Given the description of an element on the screen output the (x, y) to click on. 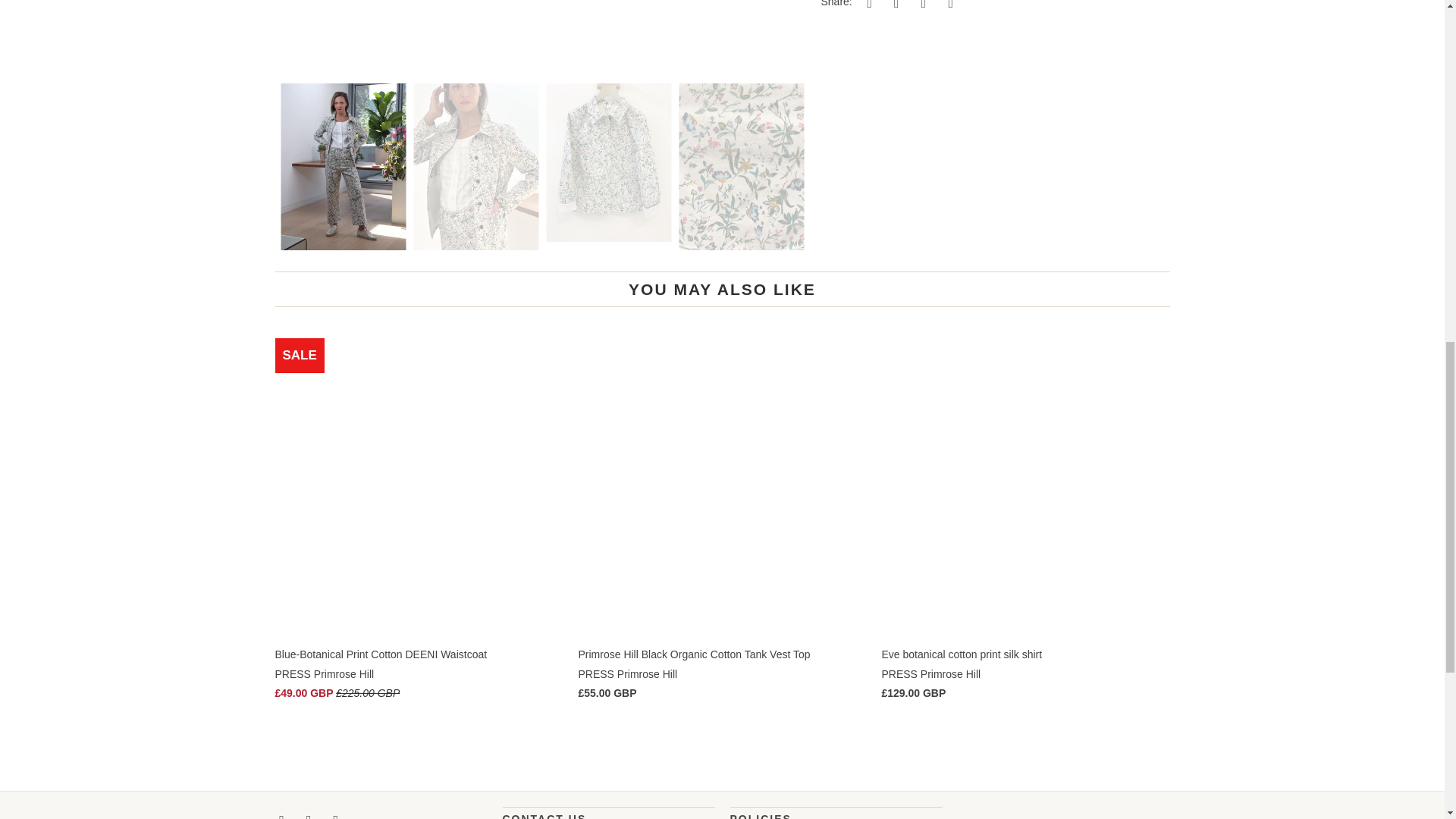
Share this on Twitter (867, 4)
White Botanical-Print Stretch-Cotton Pelli Jacket (540, 33)
Share this on Pinterest (920, 4)
Share this on Facebook (893, 4)
